Given the description of an element on the screen output the (x, y) to click on. 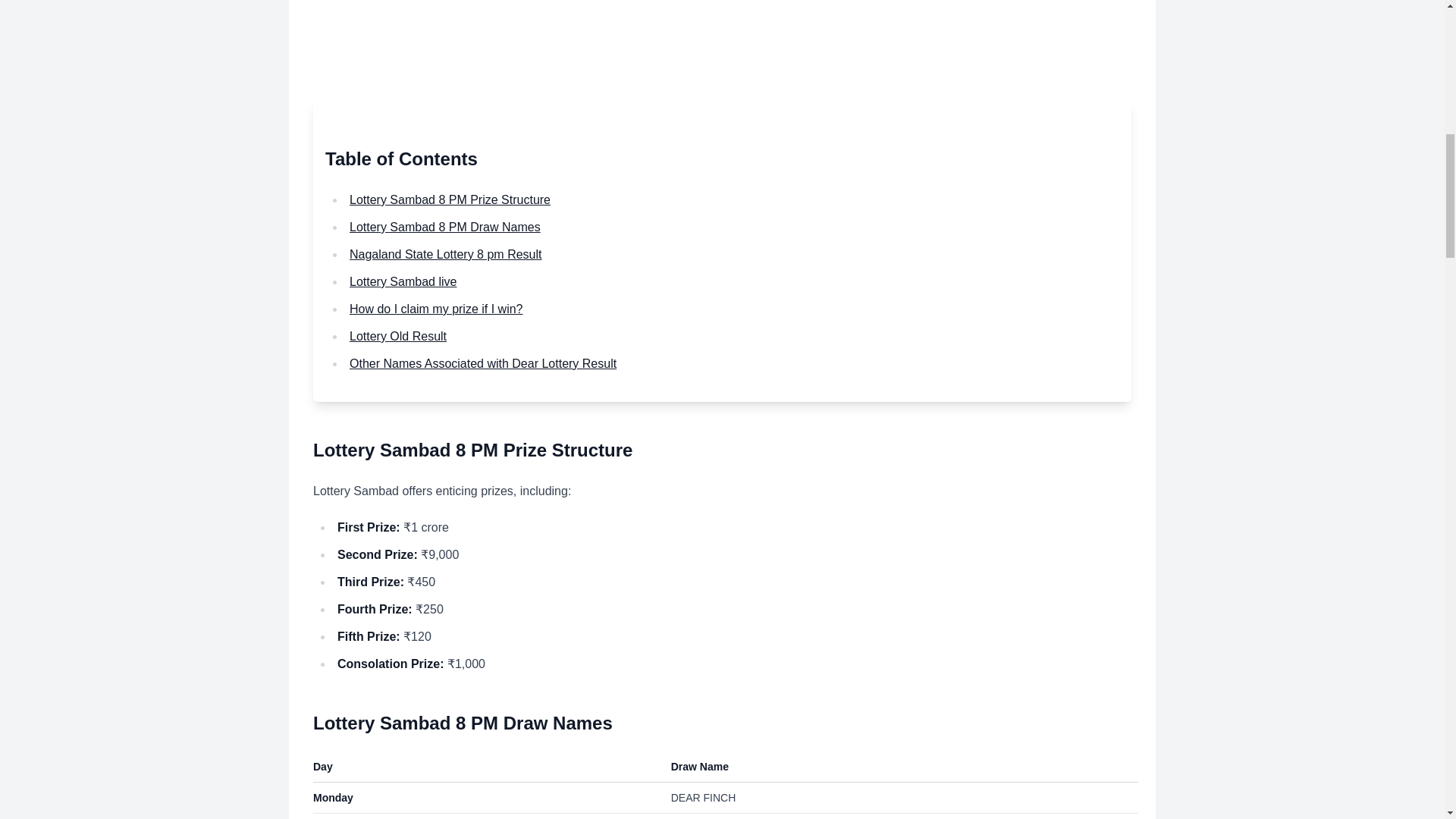
Advertisement (722, 49)
Lottery Sambad 8 PM Prize Structure (449, 199)
Lottery Sambad live (403, 281)
Nagaland State Lottery 8 pm Result (445, 254)
Other Names Associated with Dear Lottery Result (482, 363)
Lottery Sambad 8 PM Draw Names (444, 226)
Lottery Old Result (397, 336)
How do I claim my prize if I win? (435, 308)
